Given the description of an element on the screen output the (x, y) to click on. 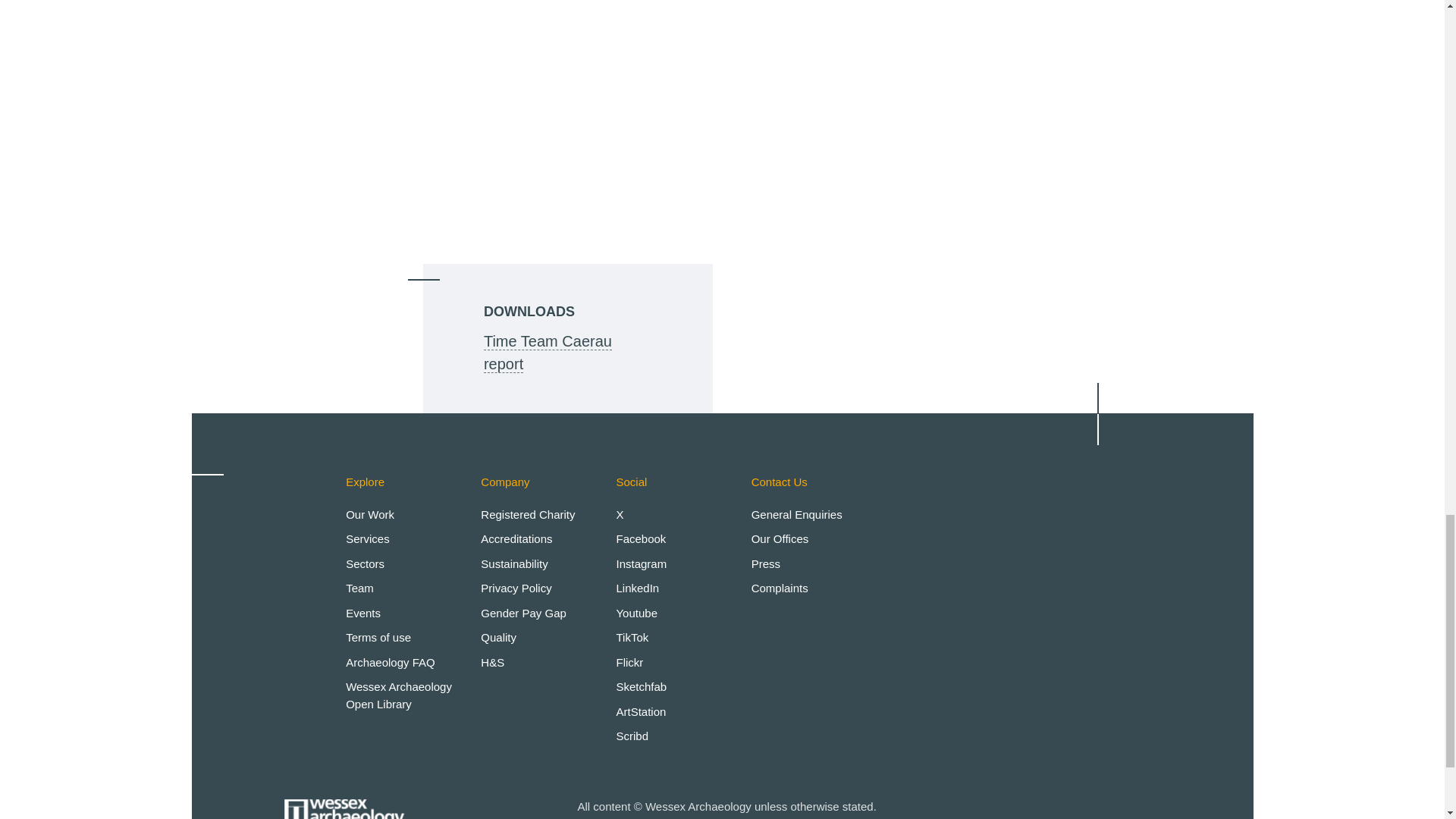
Press contact information (765, 562)
Company (504, 481)
Events (363, 612)
Home (343, 800)
Quality (498, 636)
Wessex Archaeology Open Library (398, 695)
Privacy Policy (515, 587)
Quality Policy (498, 636)
Sustainability (513, 562)
Terms of use (378, 636)
